Given the description of an element on the screen output the (x, y) to click on. 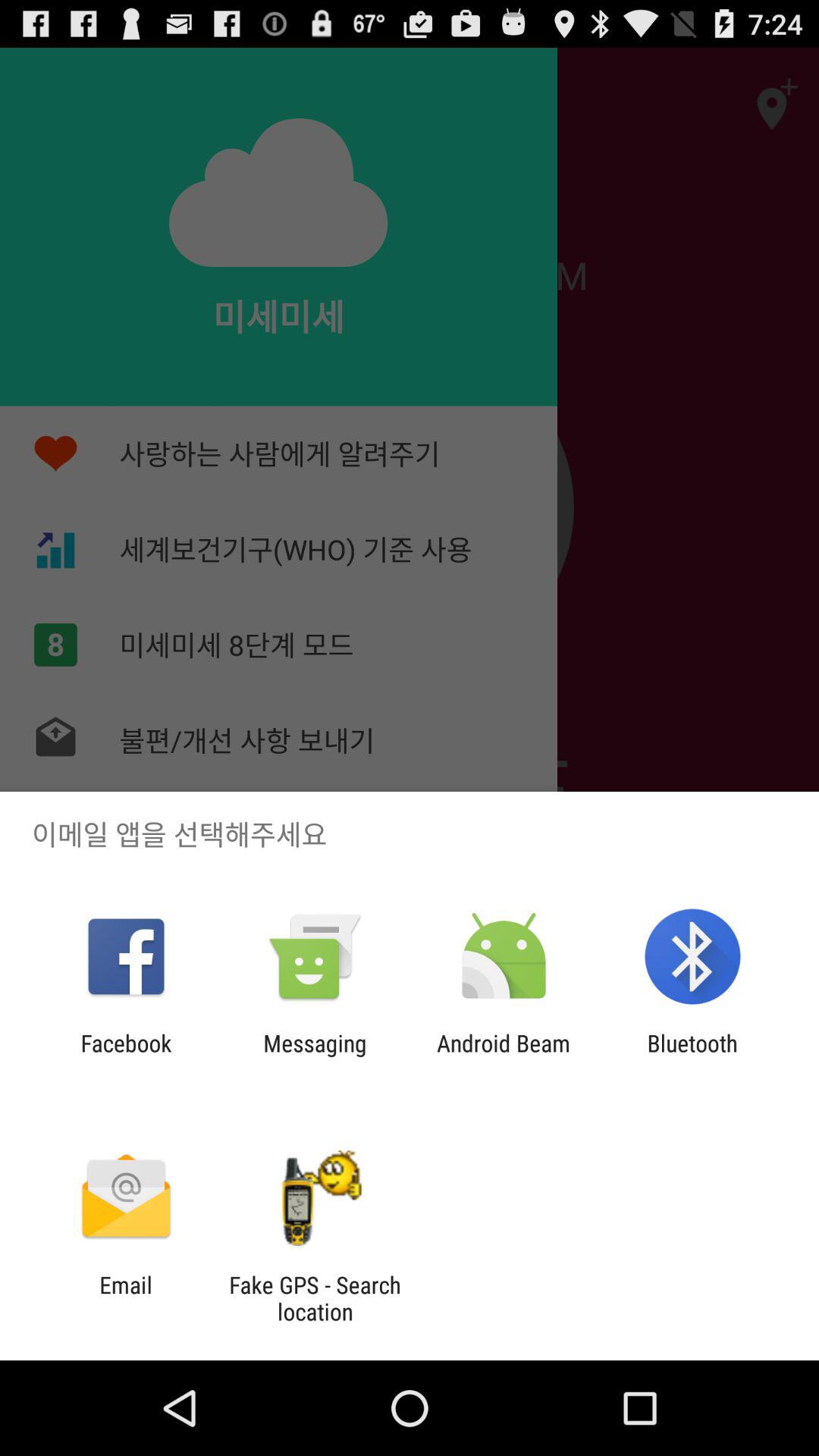
open the icon to the left of android beam app (314, 1056)
